Given the description of an element on the screen output the (x, y) to click on. 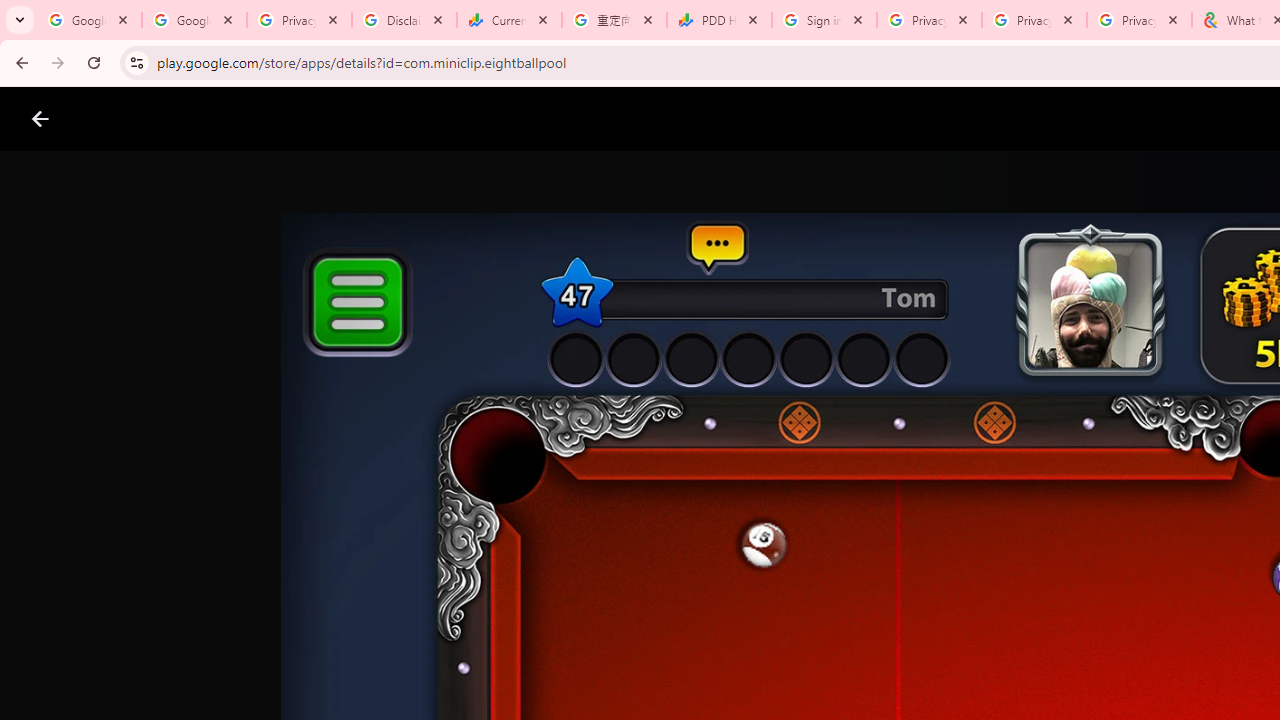
Miniclip.com (680, 586)
Kids (385, 119)
Games (248, 119)
Apps (321, 119)
Close screenshot viewer (39, 119)
